Given the description of an element on the screen output the (x, y) to click on. 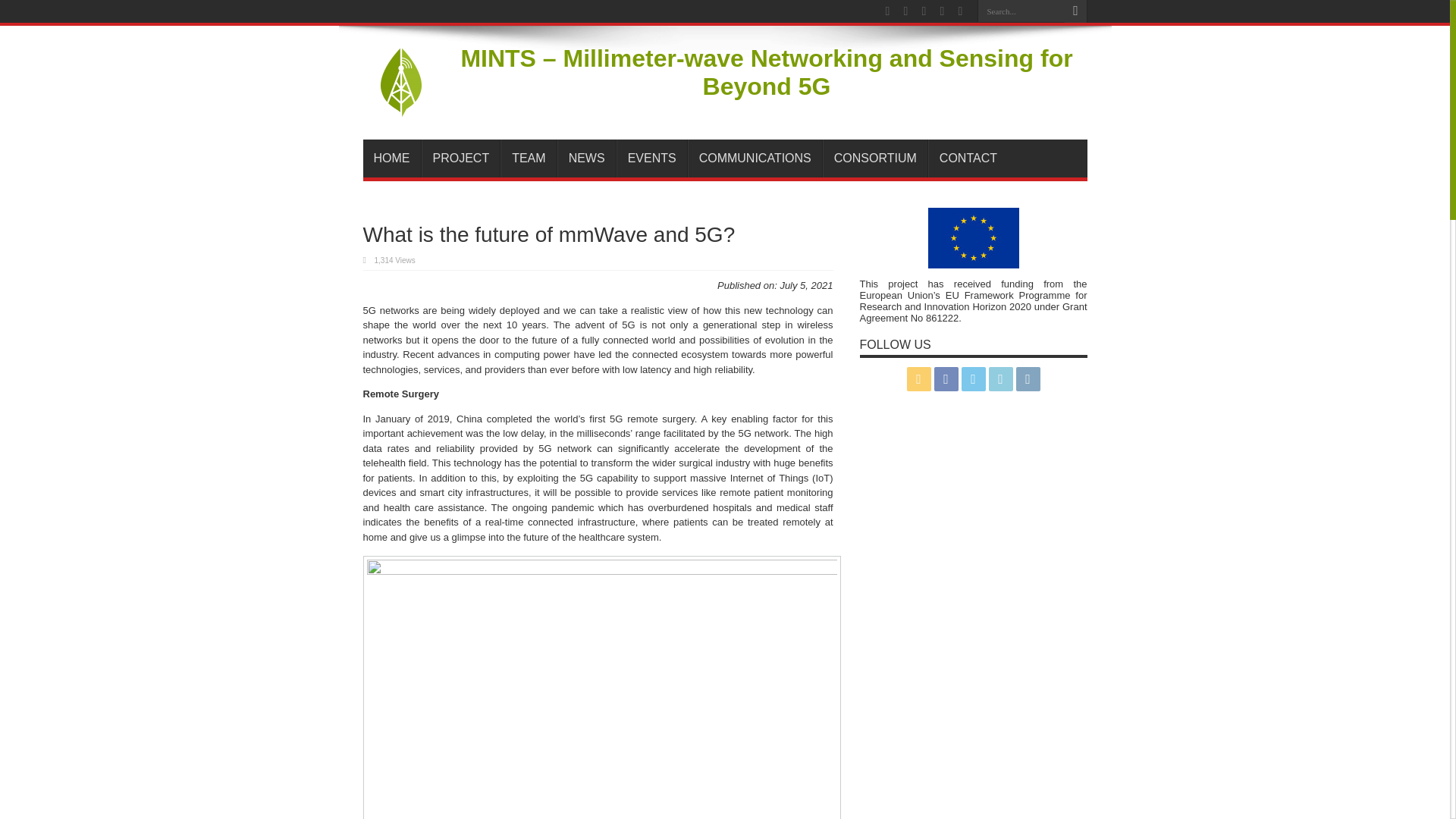
Rss (919, 378)
EVENTS (651, 158)
Search... (1020, 11)
CONSORTIUM (874, 158)
Search (1075, 11)
instagram (1028, 378)
NEWS (586, 158)
Facebook (946, 378)
TEAM (528, 158)
HOME (391, 158)
